Given the description of an element on the screen output the (x, y) to click on. 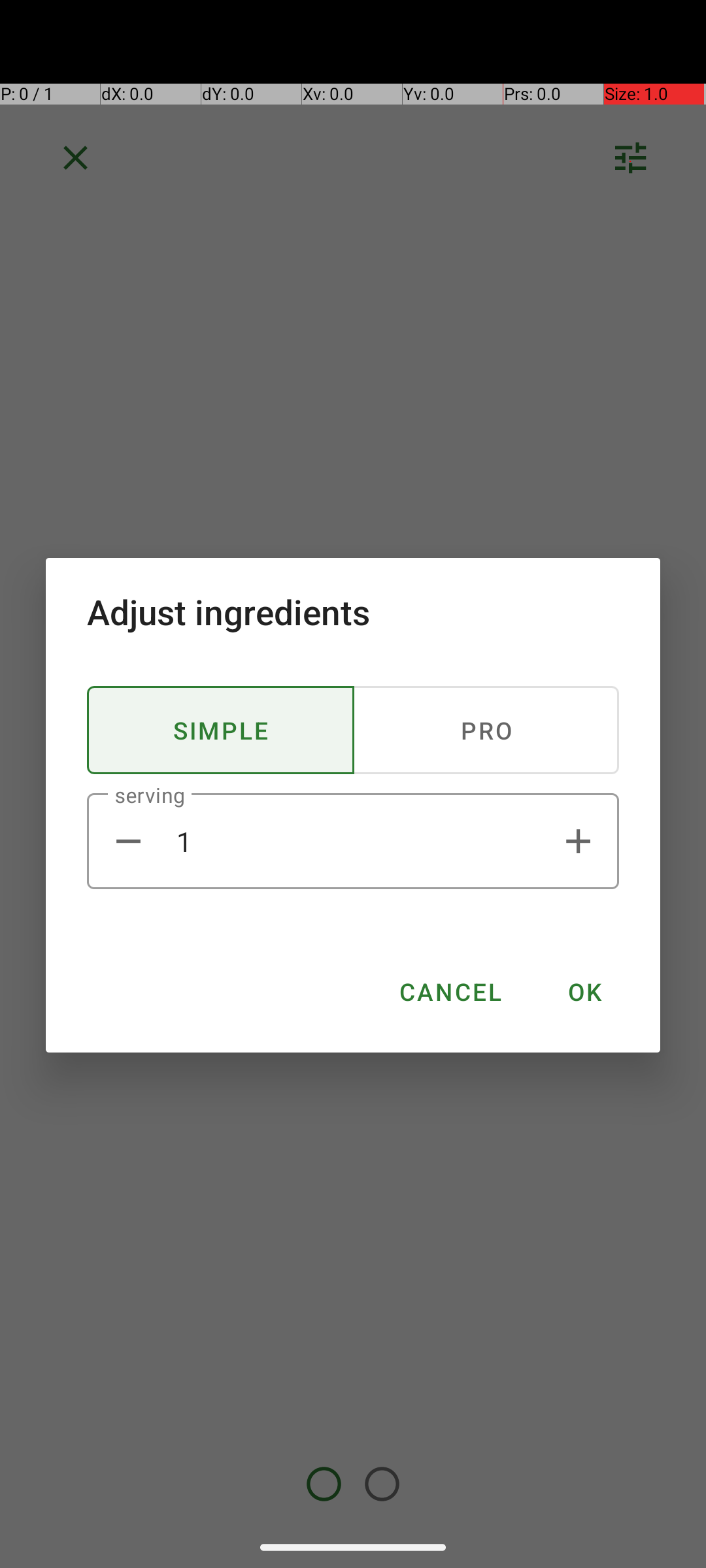
SIMPLE Element type: android.widget.CompoundButton (220, 730)
PRO Element type: android.widget.CompoundButton (485, 730)
